Given the description of an element on the screen output the (x, y) to click on. 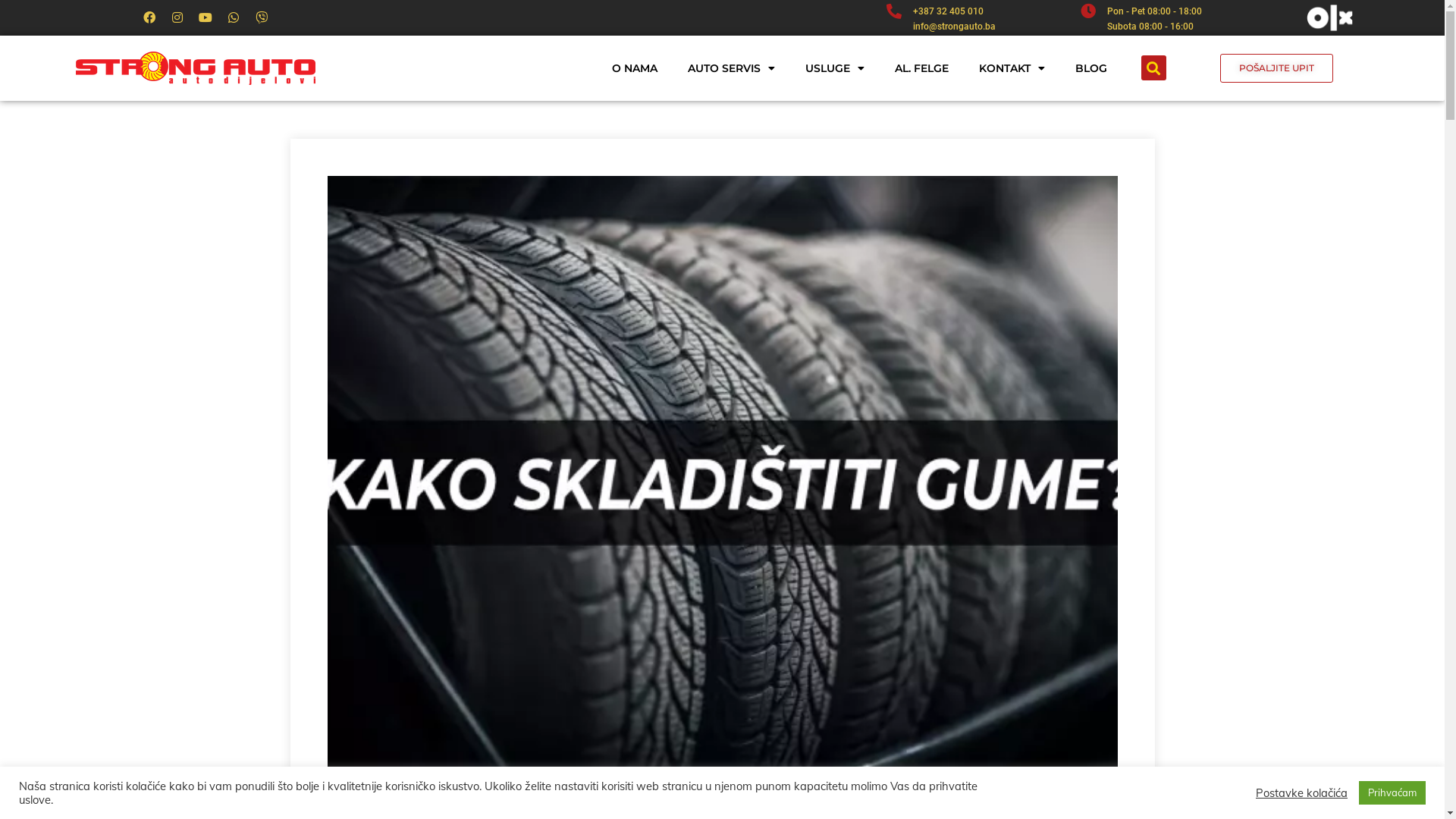
BLOG Element type: text (1091, 67)
AUTO SERVIS Element type: text (731, 67)
AL. FELGE Element type: text (921, 67)
O NAMA Element type: text (634, 67)
KONTAKT Element type: text (1011, 67)
USLUGE Element type: text (834, 67)
